Given the description of an element on the screen output the (x, y) to click on. 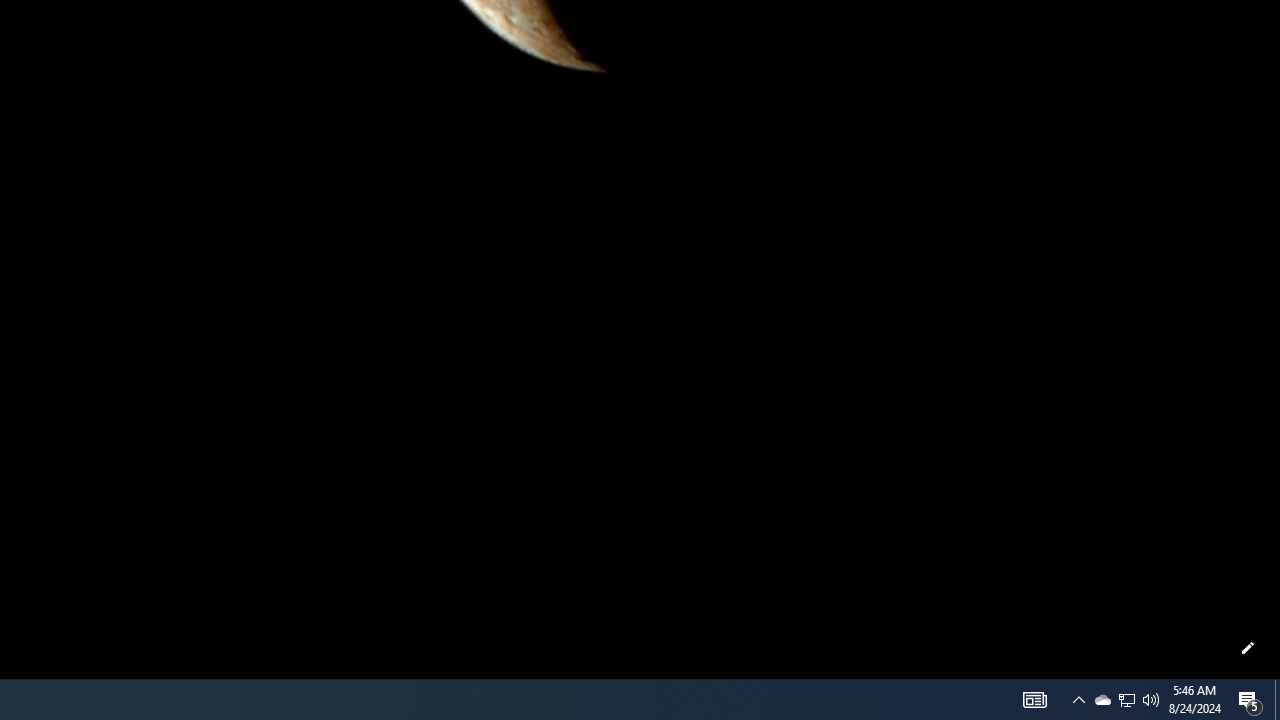
Customize this page (1247, 647)
